Given the description of an element on the screen output the (x, y) to click on. 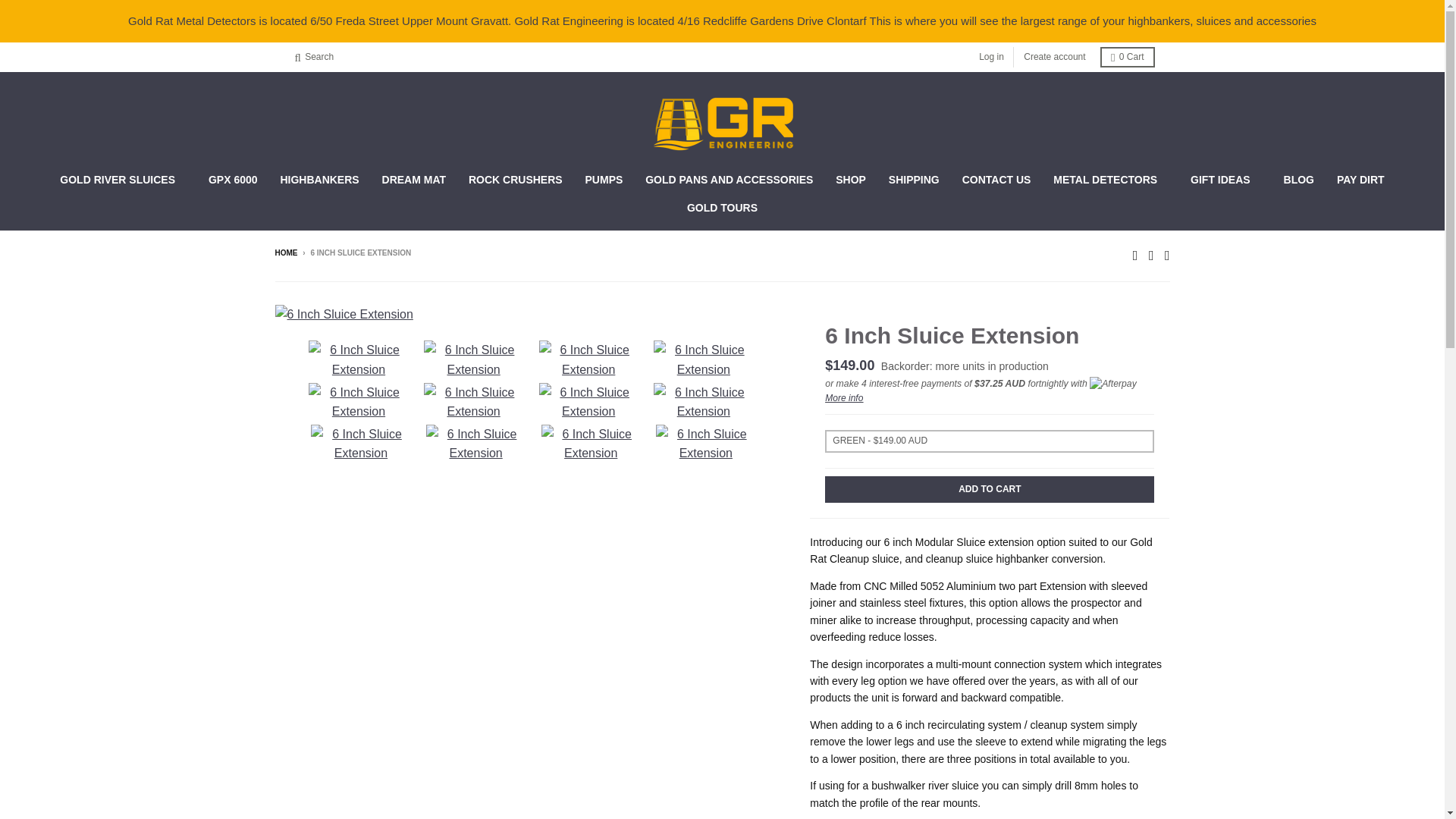
Create account (1054, 56)
Back to the frontpage (286, 252)
0 Cart (1127, 56)
SHOP (850, 179)
METAL DETECTORS (1110, 179)
Log in (991, 56)
ROCK CRUSHERS (515, 179)
SHIPPING (914, 179)
PUMPS (604, 179)
CONTACT US (996, 179)
